Given the description of an element on the screen output the (x, y) to click on. 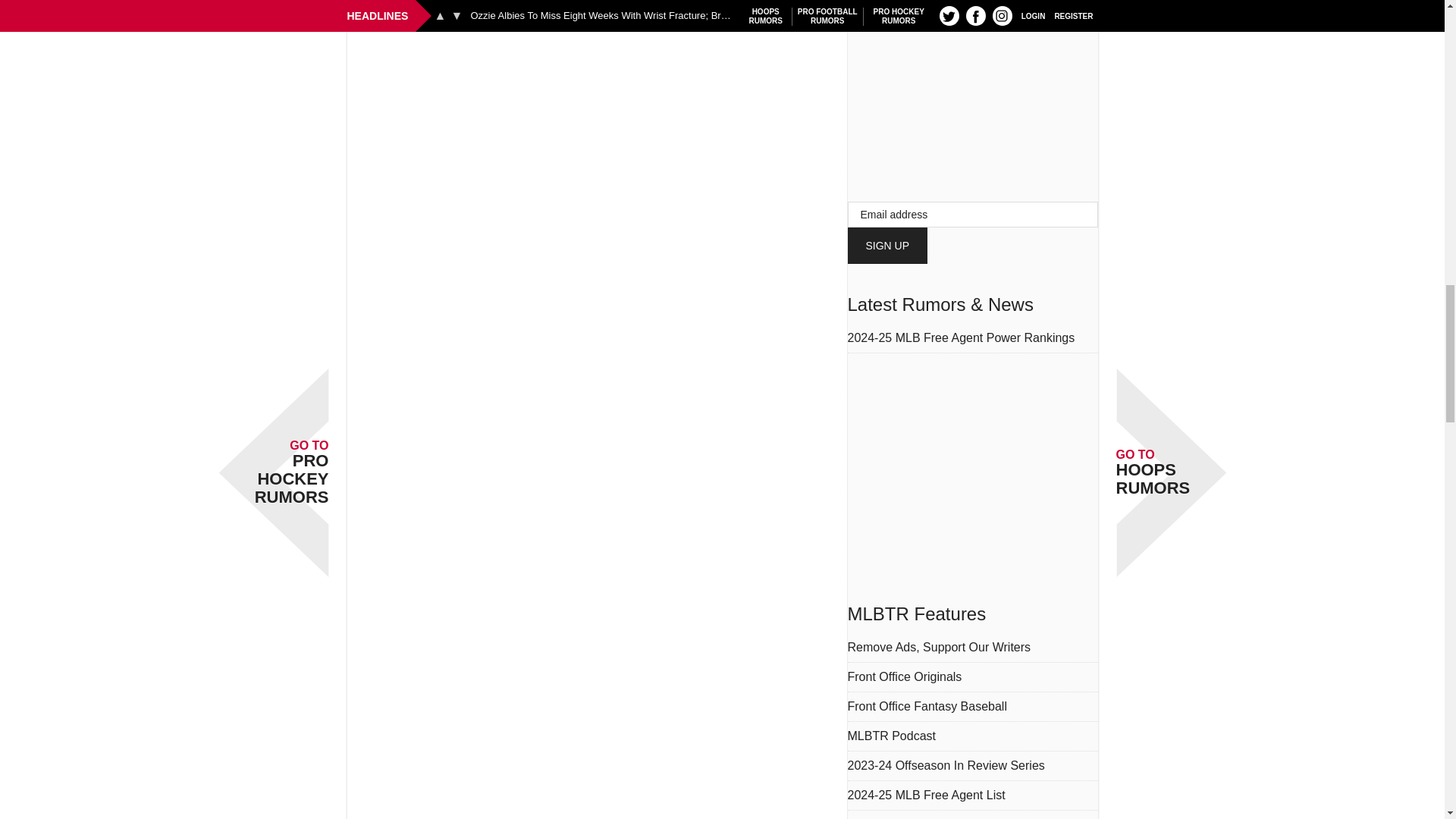
Sign Up (887, 245)
